Given the description of an element on the screen output the (x, y) to click on. 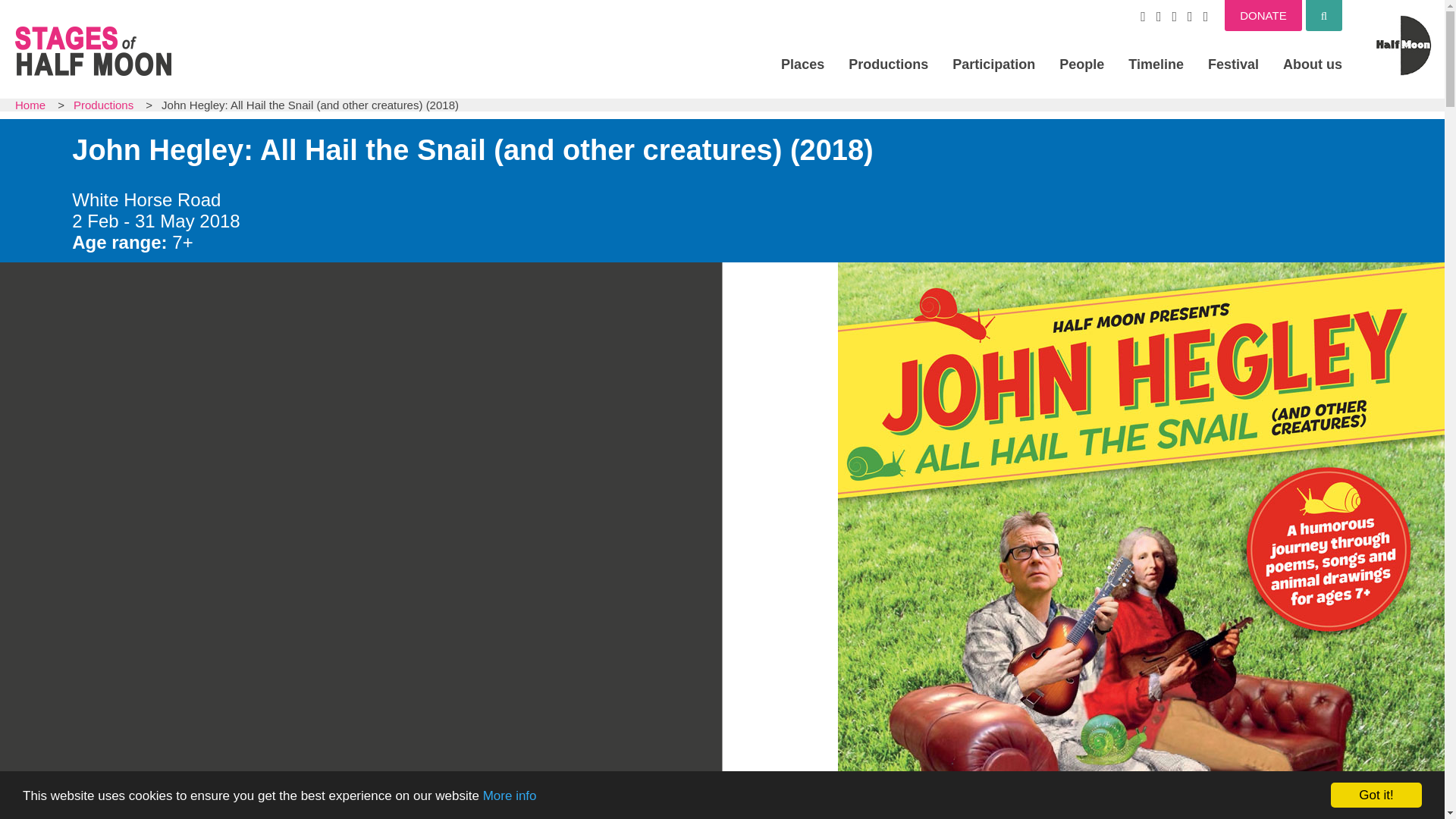
Festival (1233, 64)
Places (802, 64)
People (1081, 64)
Participation (993, 64)
Productions (103, 104)
Stages of Half Moon (92, 51)
Timeline (1155, 64)
About us (1312, 64)
Productions (888, 64)
DONATE (1262, 15)
Home (29, 104)
